Given the description of an element on the screen output the (x, y) to click on. 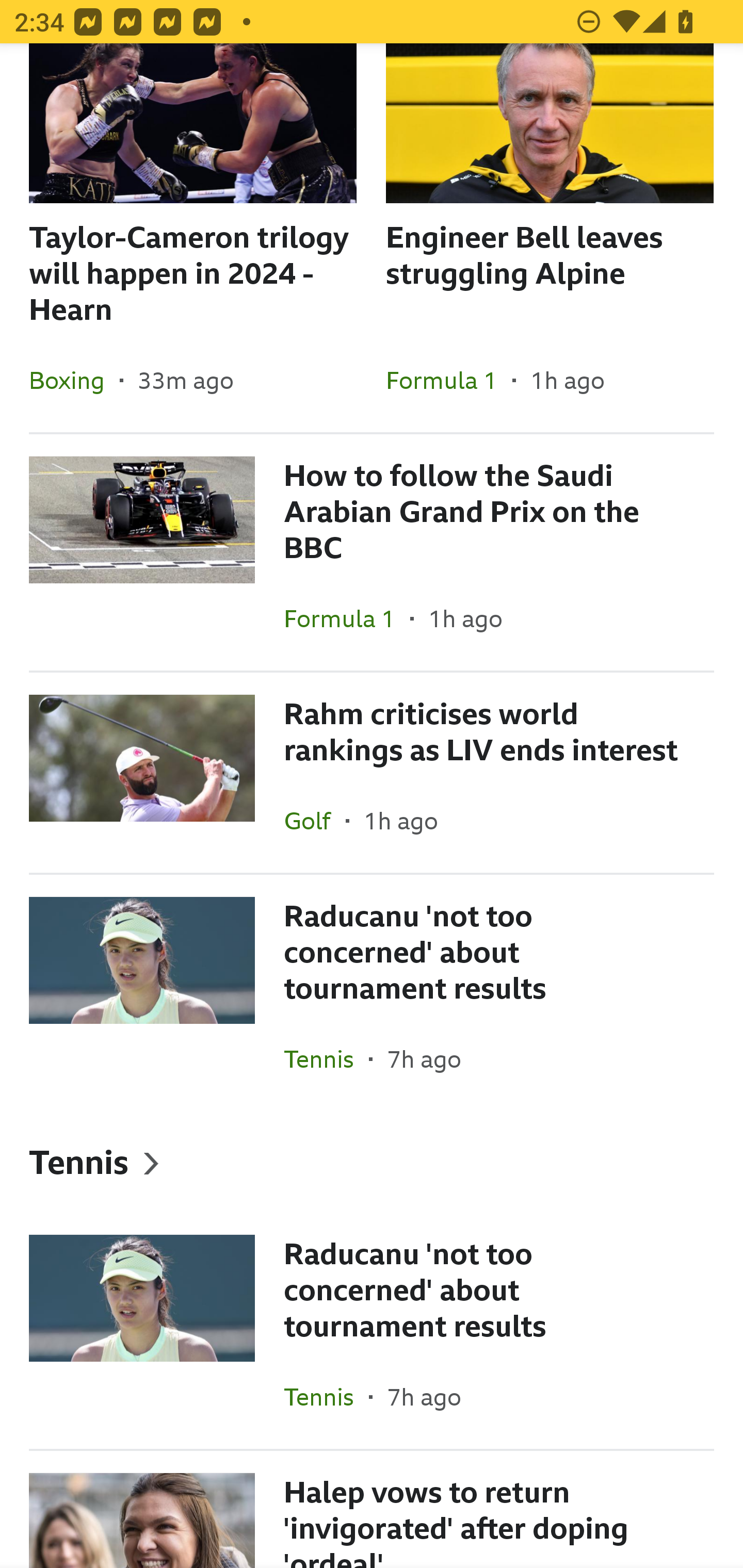
Tennis, Heading Tennis    (371, 1161)
